Given the description of an element on the screen output the (x, y) to click on. 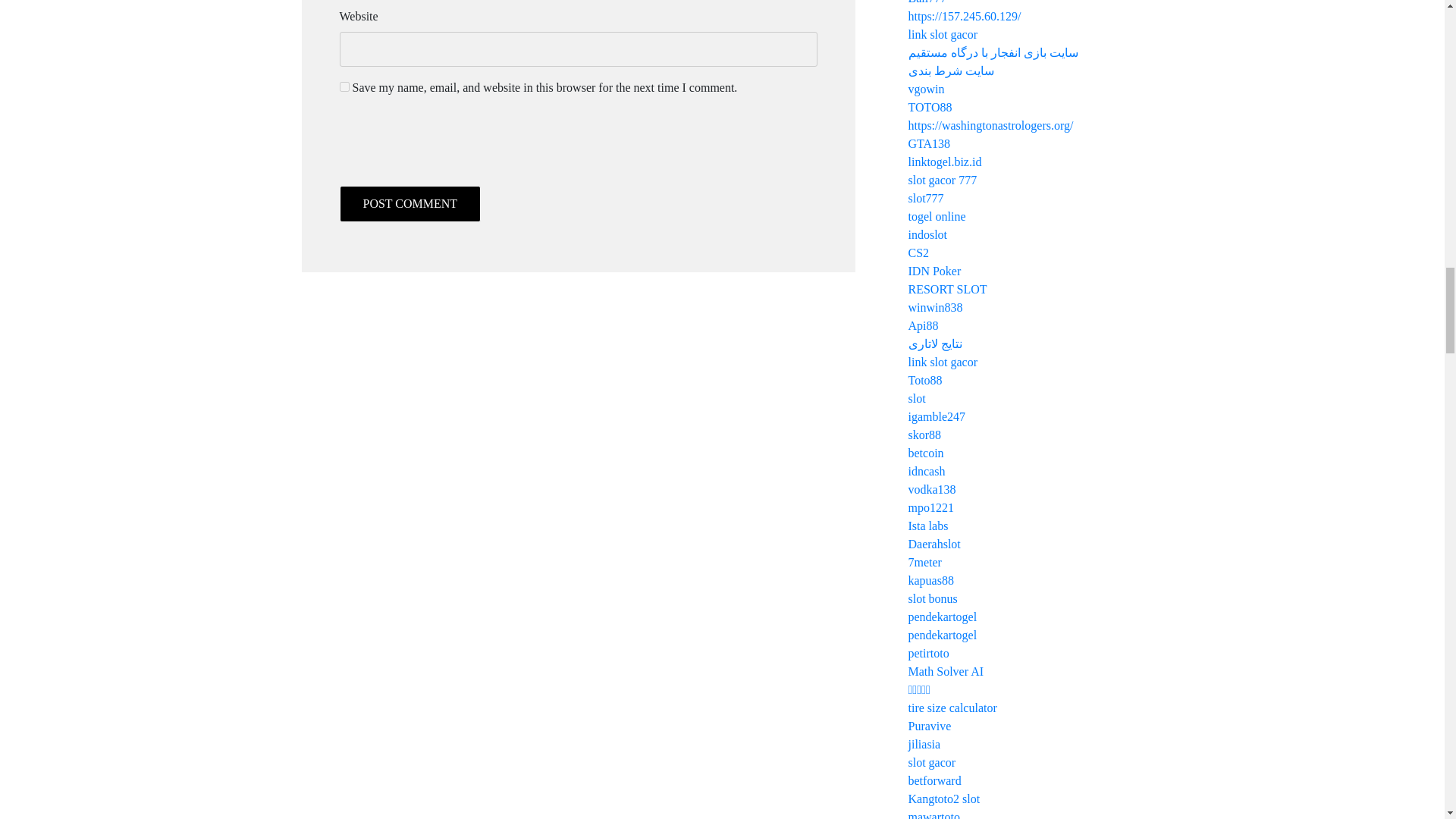
reCAPTCHA (454, 151)
Post Comment (410, 203)
yes (344, 86)
Post Comment (410, 203)
